Given the description of an element on the screen output the (x, y) to click on. 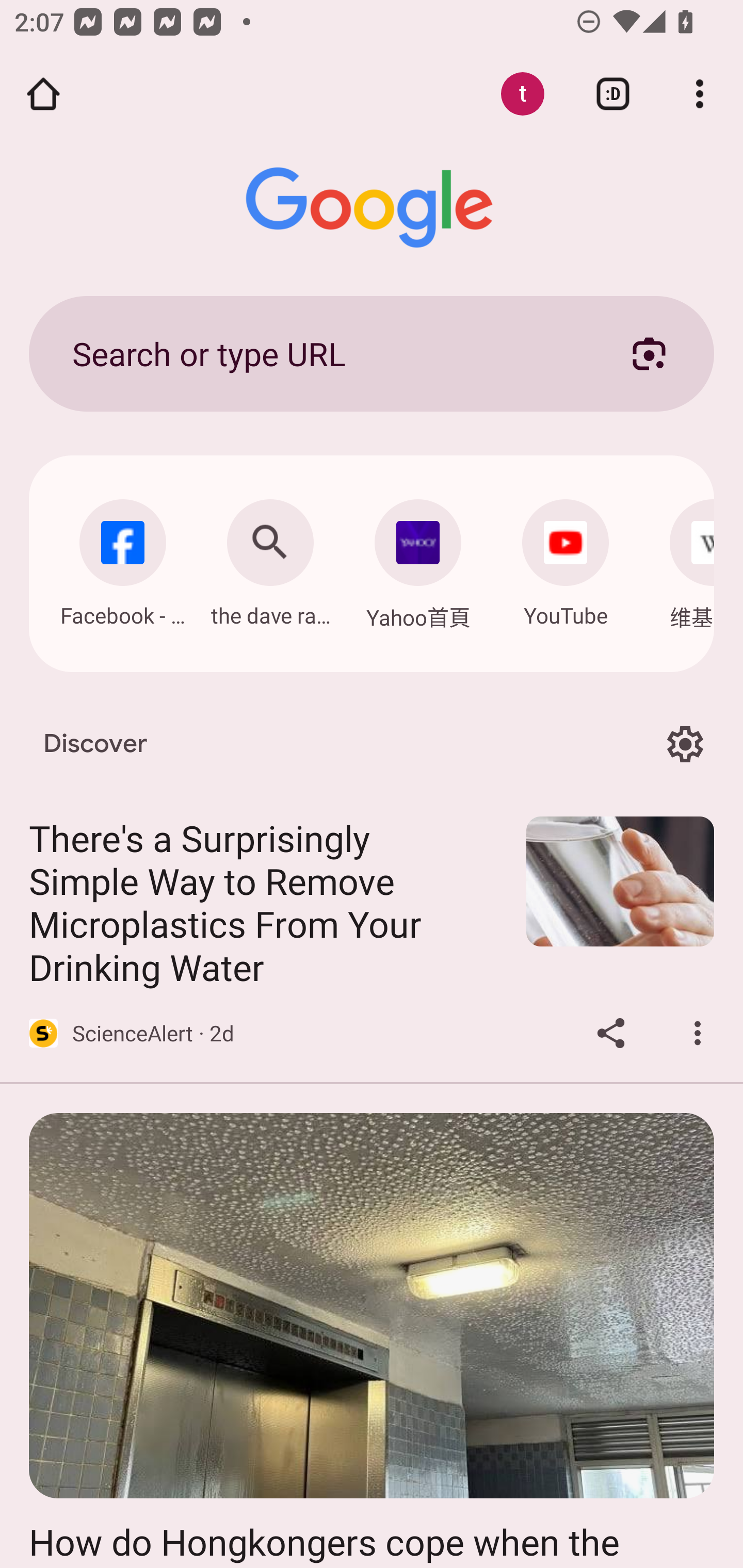
Open the home page (43, 93)
Switch or close tabs (612, 93)
Customize and control Google Chrome (699, 93)
Search or type URL (327, 353)
Search with your camera using Google Lens (648, 353)
Search: the dave ramsey show the dave ramsey show (270, 558)
Navigate: Yahoo首頁: hk.mobi.yahoo.com Yahoo首頁 (417, 558)
Navigate: YouTube: m.youtube.com YouTube (565, 558)
Options for Discover (684, 743)
